Given the description of an element on the screen output the (x, y) to click on. 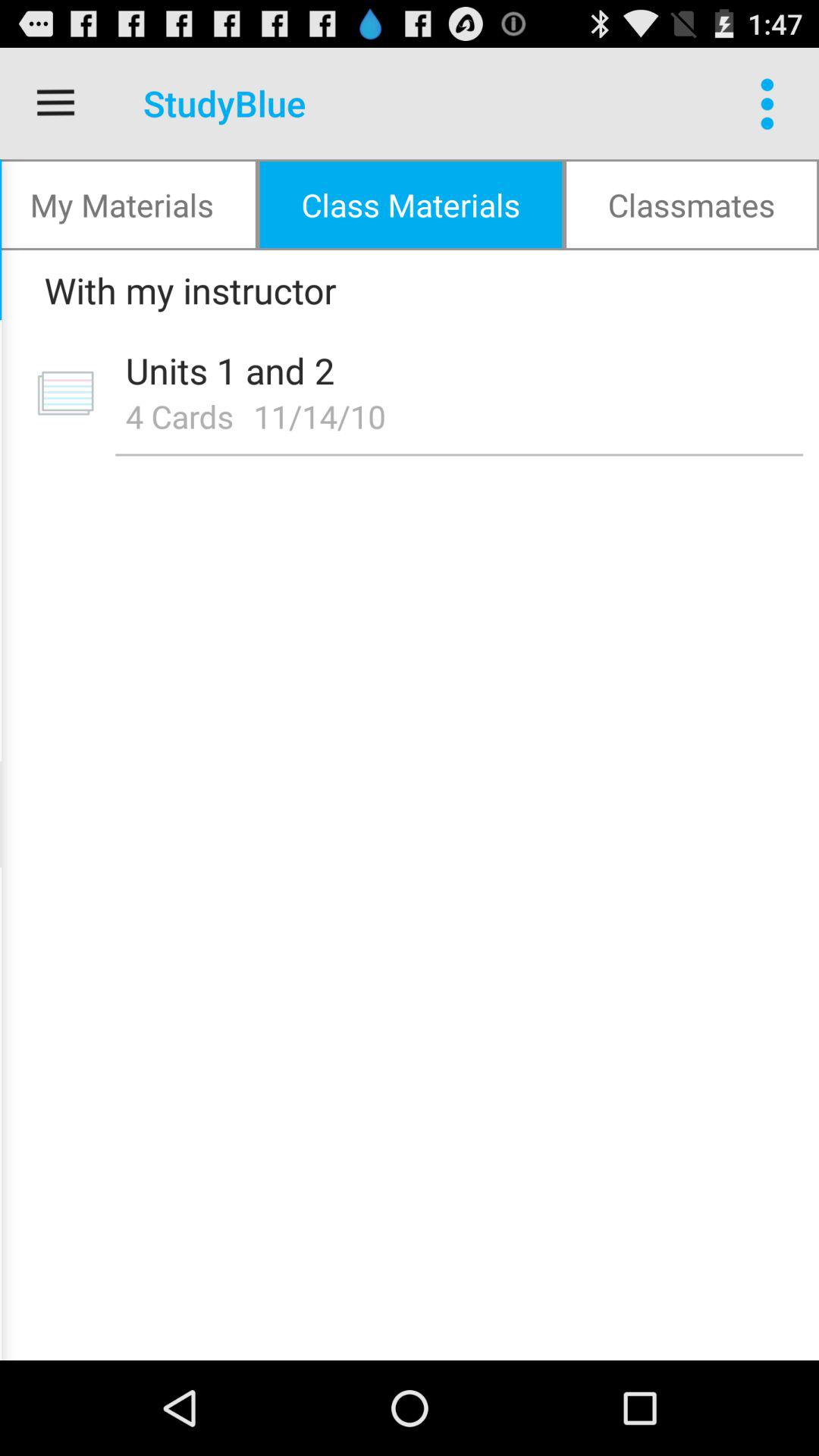
press the icon next to the classmates (410, 204)
